Given the description of an element on the screen output the (x, y) to click on. 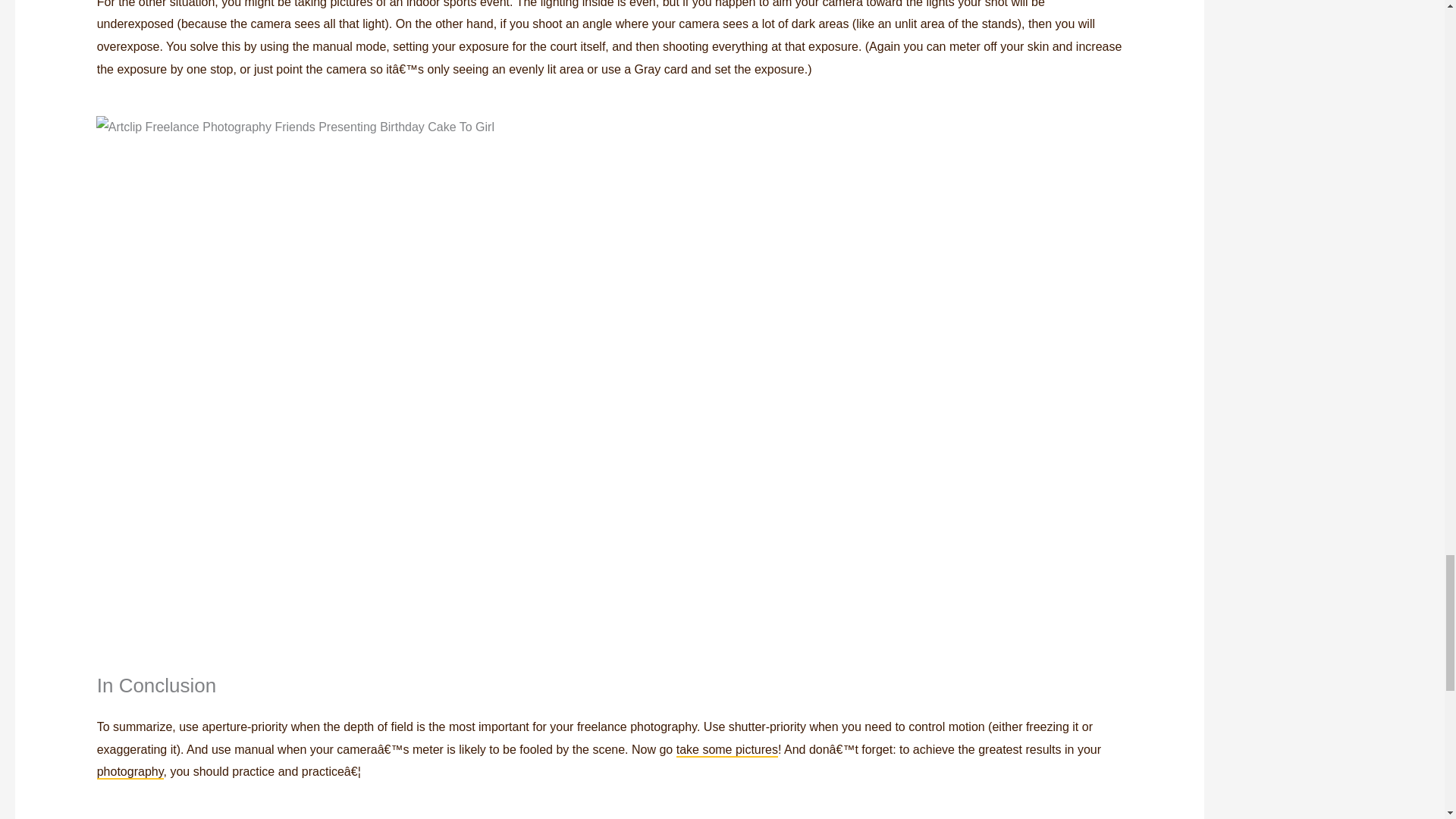
take some pictures (727, 749)
photography (130, 771)
